Given the description of an element on the screen output the (x, y) to click on. 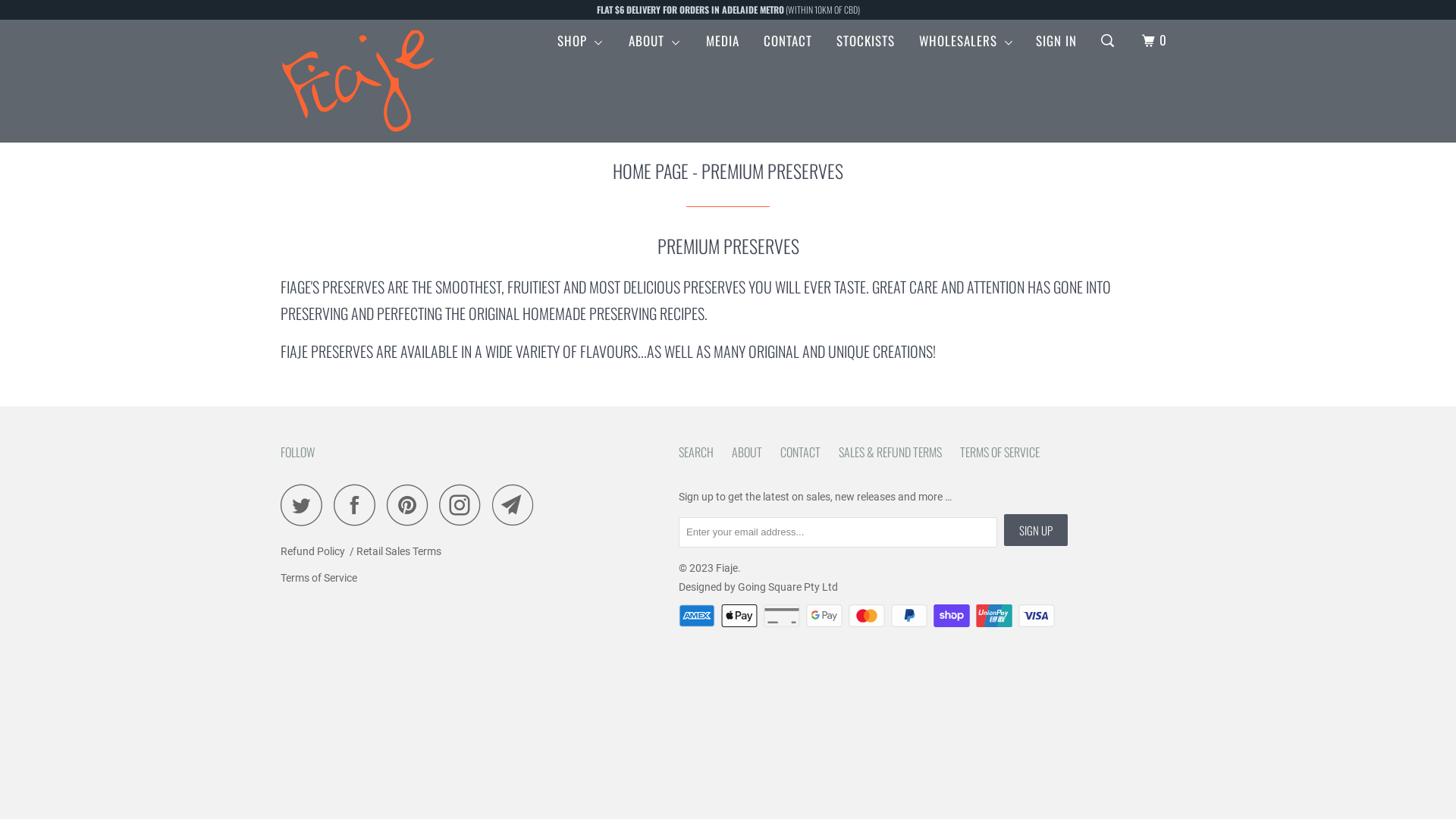
Going Square Pty Ltd Element type: text (787, 586)
ABOUT Element type: text (746, 452)
Fiaje on Twitter Element type: hover (305, 504)
Email Fiaje Element type: hover (517, 504)
Terms of Service Element type: text (318, 577)
Search Element type: hover (1109, 40)
Fiaje on Facebook Element type: hover (358, 504)
SHOP   Element type: text (580, 40)
0 Element type: text (1156, 40)
MEDIA Element type: text (722, 40)
ABOUT   Element type: text (654, 40)
WHOLESALERS   Element type: text (966, 40)
Refund Policy  / Retail Sales Terms Element type: text (360, 551)
Sign Up Element type: text (1035, 530)
SIGN IN Element type: text (1055, 40)
STOCKISTS Element type: text (865, 40)
Fiaje Element type: hover (358, 80)
CONTACT Element type: text (787, 40)
SEARCH Element type: text (695, 452)
Fiaje Element type: text (726, 567)
Fiaje on Pinterest Element type: hover (411, 504)
TERMS OF SERVICE Element type: text (999, 452)
Fiaje on Instagram Element type: hover (464, 504)
CONTACT Element type: text (800, 452)
SALES & REFUND TERMS Element type: text (889, 452)
